Given the description of an element on the screen output the (x, y) to click on. 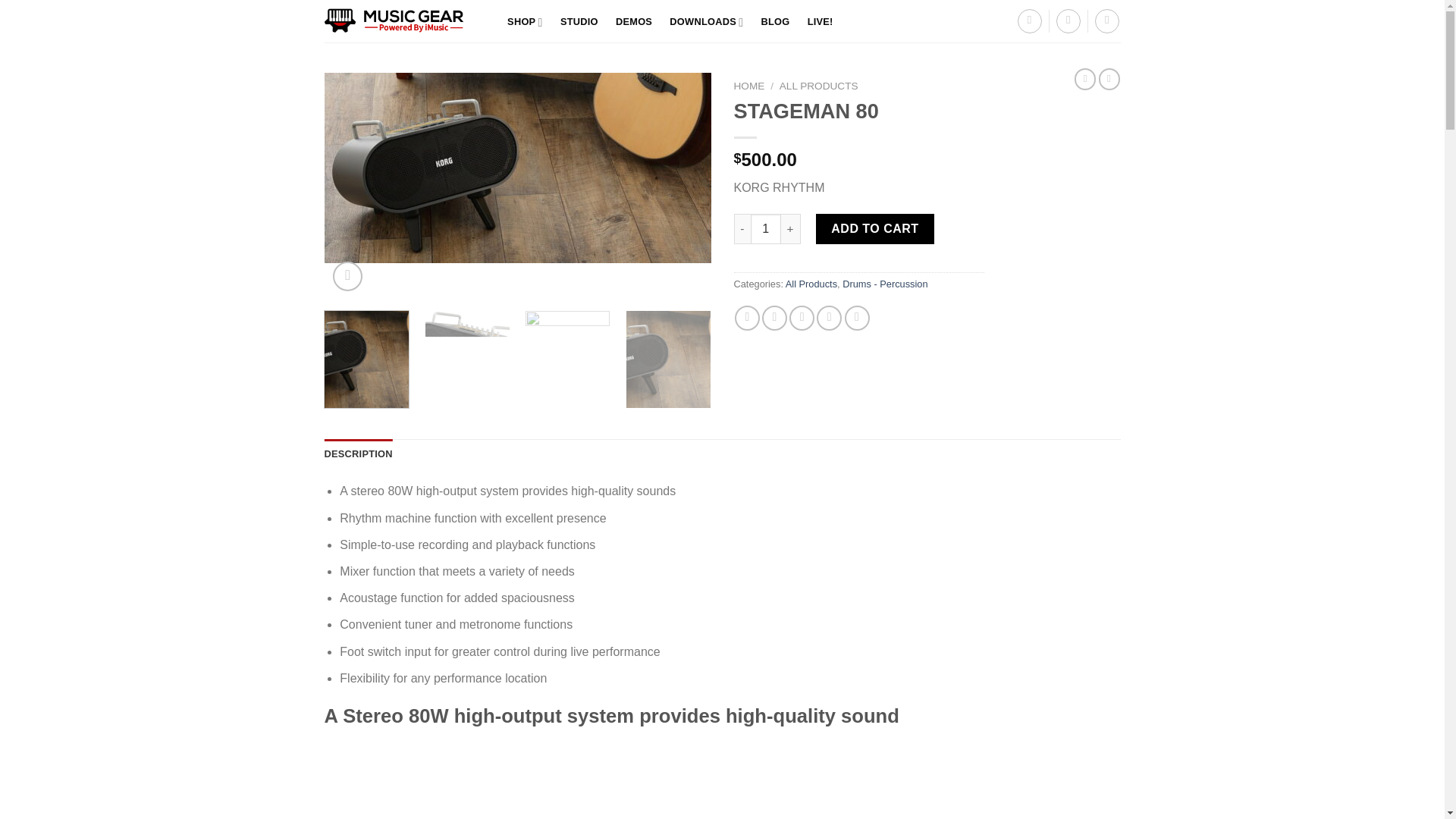
SHOP (525, 22)
Share on Twitter (774, 317)
DEMOS (634, 21)
Login (1068, 21)
Zoom (347, 276)
Share on Facebook (747, 317)
Email to a Friend (801, 317)
Music Gear - Music Gear Lebanon (400, 21)
Cart (1106, 21)
STUDIO (579, 21)
